Given the description of an element on the screen output the (x, y) to click on. 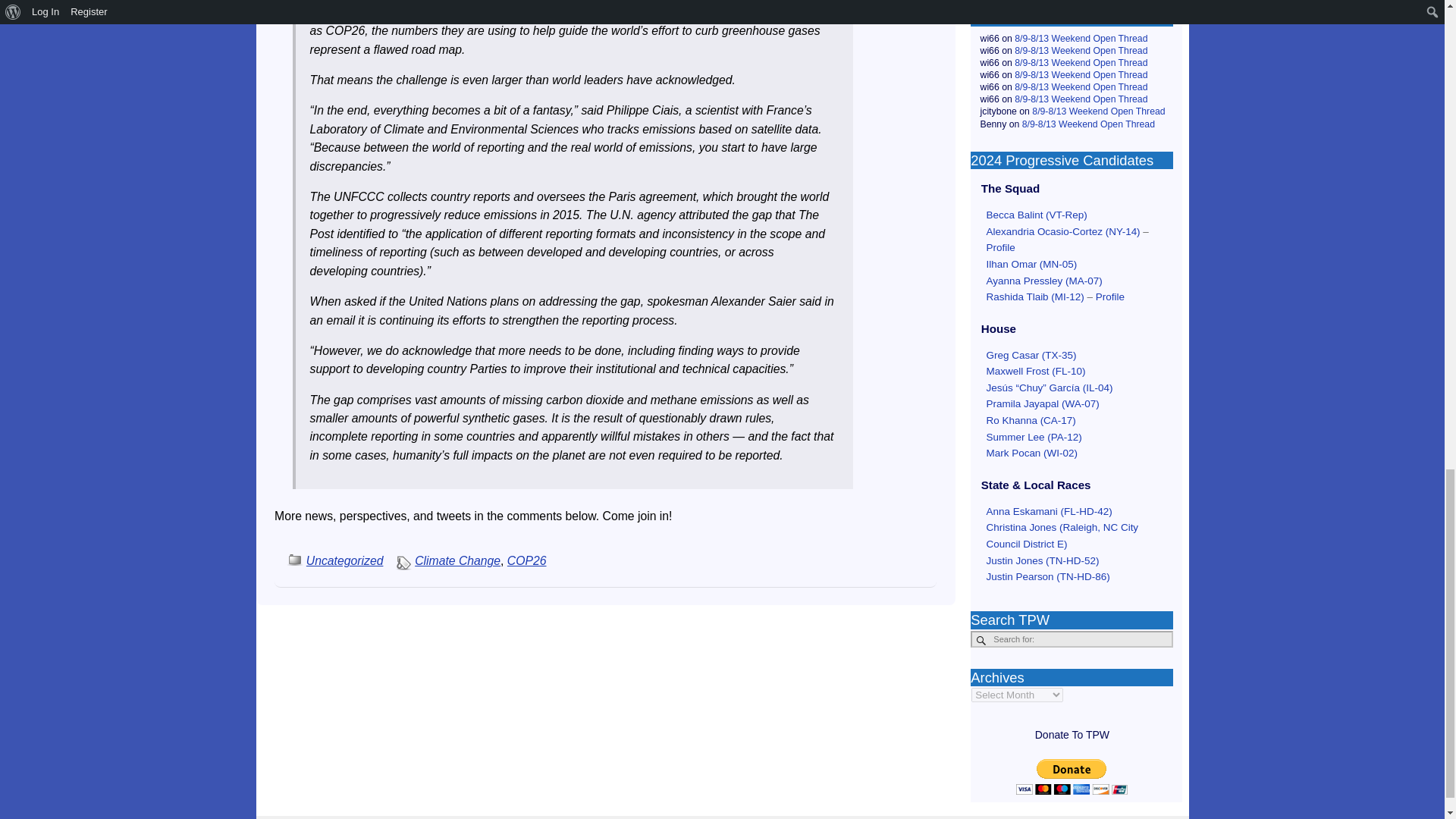
Uncategorized (344, 560)
COP26 (526, 560)
Climate Change (457, 560)
